Given the description of an element on the screen output the (x, y) to click on. 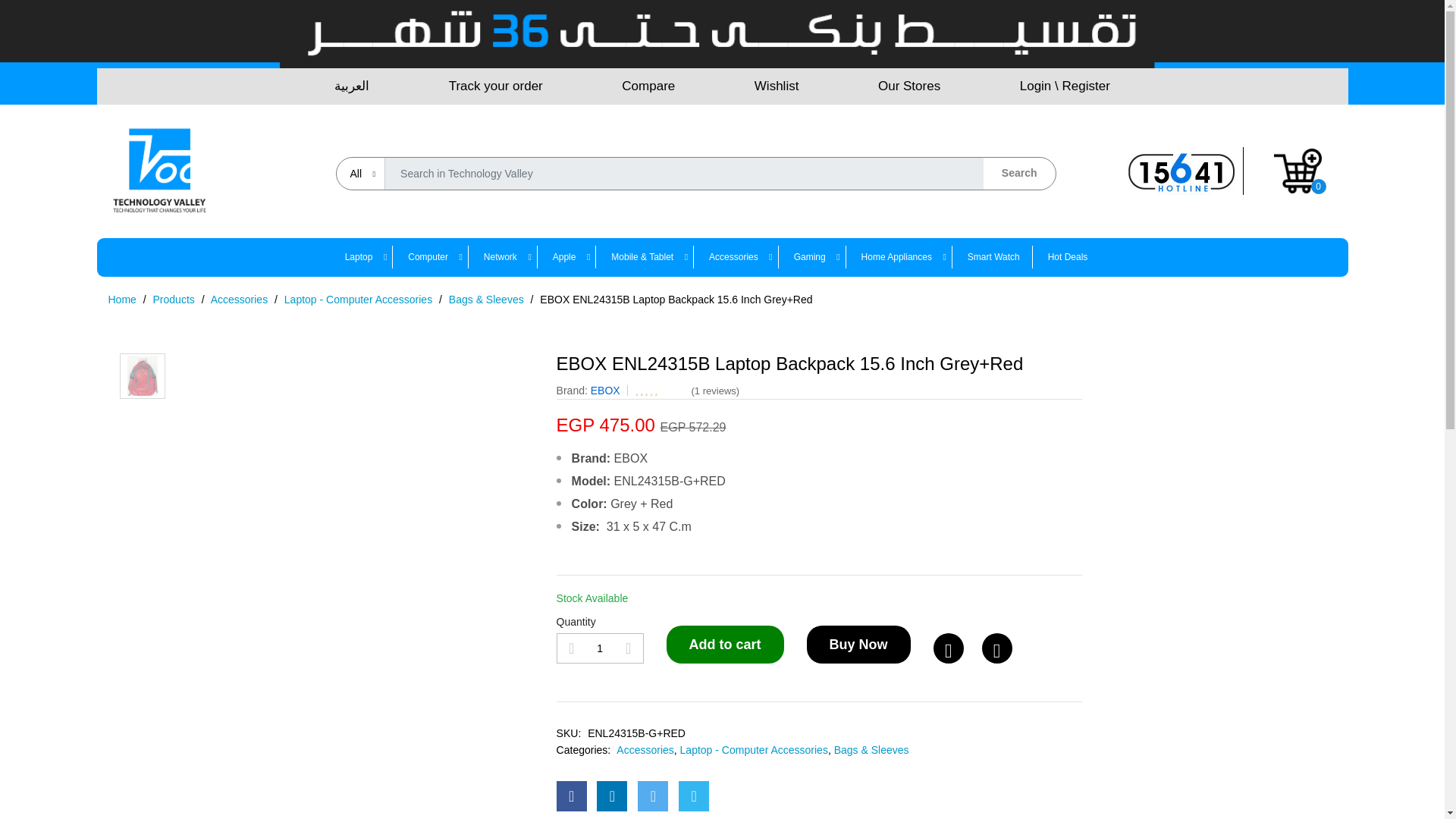
0 (1298, 170)
Track your order (495, 85)
Our Stores (908, 85)
1 (1121, 68)
Compare (648, 85)
Share on WhatsApp (693, 796)
Register (1085, 85)
Wishlist (776, 85)
Computer (428, 256)
Search (1019, 173)
Laptop (365, 256)
Compare (996, 648)
Login (1035, 85)
1 (599, 648)
